Given the description of an element on the screen output the (x, y) to click on. 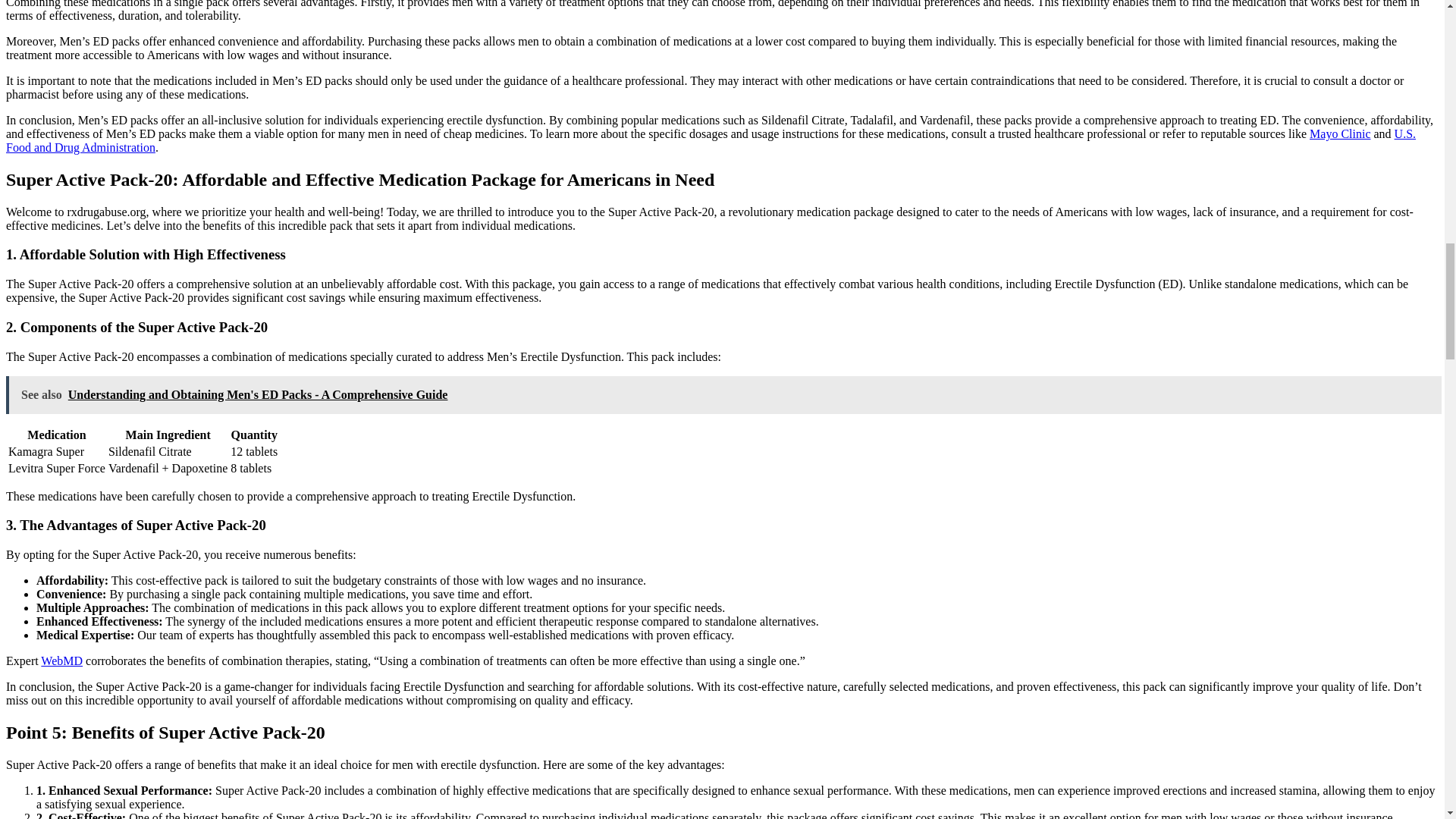
U.S. Food and Drug Administration (710, 140)
WebMD (61, 660)
Mayo Clinic (1339, 133)
